Given the description of an element on the screen output the (x, y) to click on. 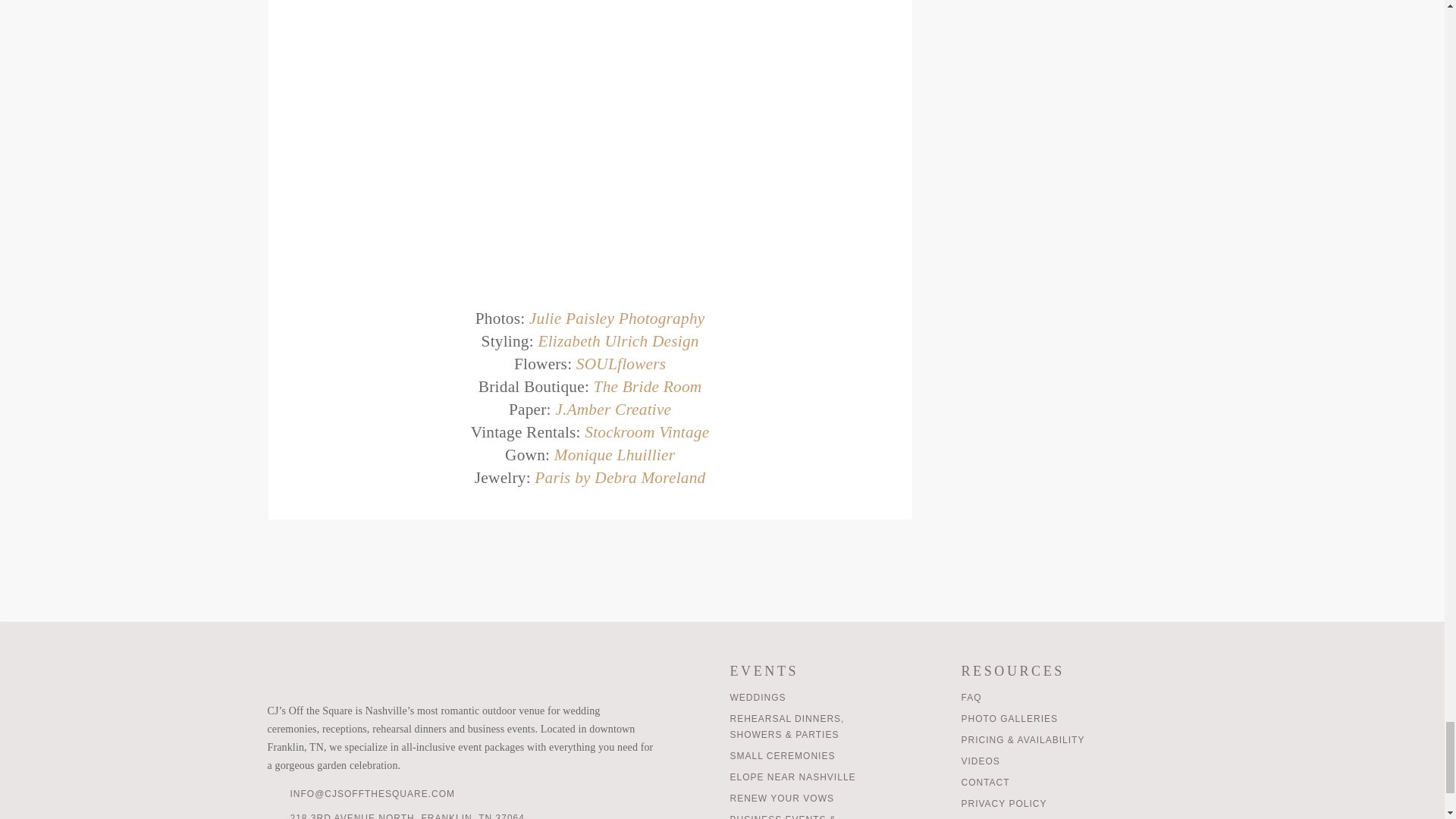
Julie Paisley Photography (616, 318)
